Given the description of an element on the screen output the (x, y) to click on. 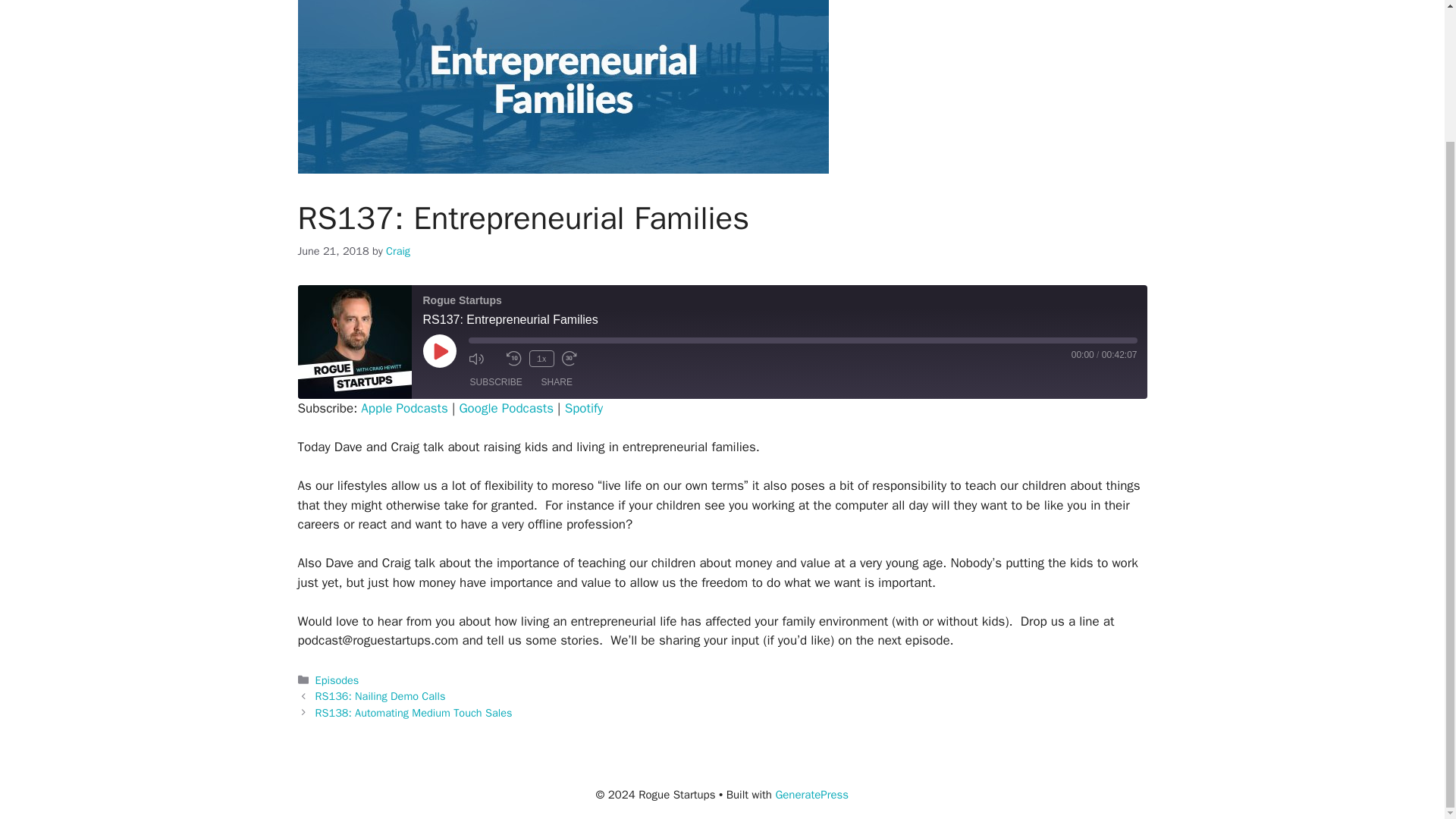
Playback Speed (541, 358)
View all posts by Craig (397, 250)
Fast Forward 30 seconds (575, 358)
Share (556, 382)
SHARE (556, 382)
Rewind 10 seconds (513, 358)
Fast Forward 30 seconds (575, 358)
Episodes (337, 680)
Play (440, 350)
Rogue Startups (353, 341)
